Given the description of an element on the screen output the (x, y) to click on. 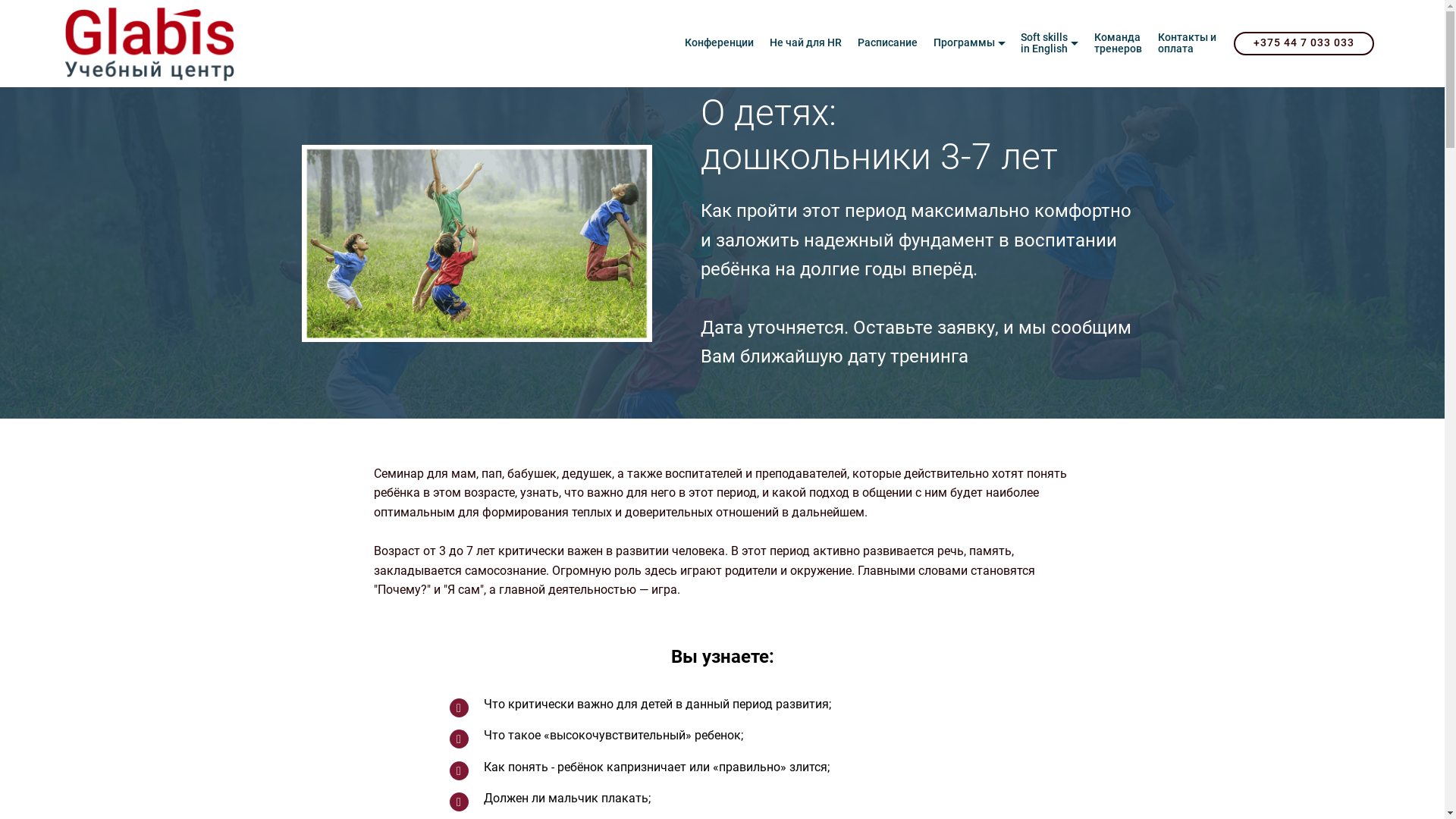
+375 44 7 033 033 Element type: text (1303, 43)
Soft skills
in English Element type: text (1049, 43)
